Given the description of an element on the screen output the (x, y) to click on. 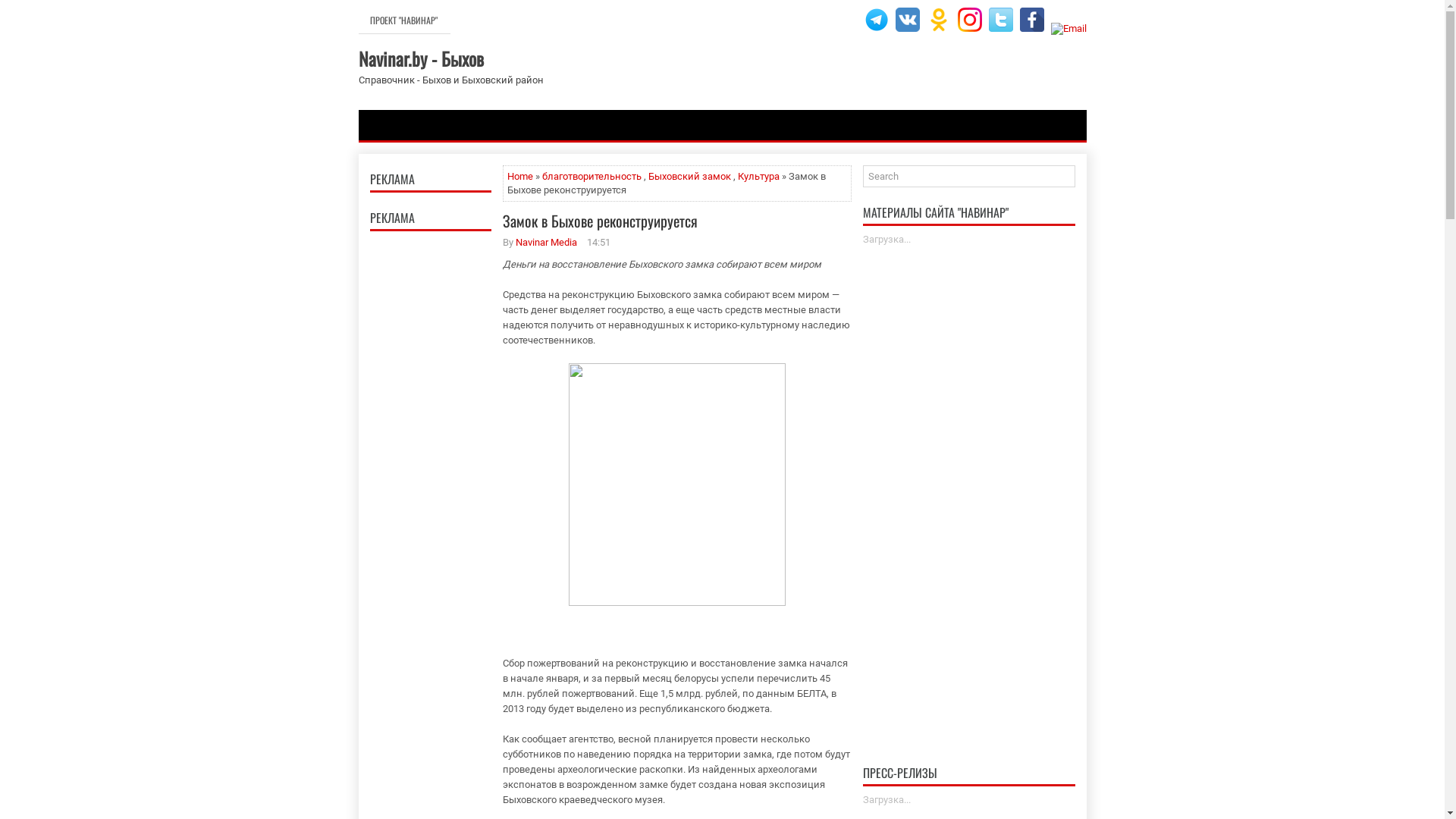
Facebook Element type: hover (1031, 19)
Telegram Element type: hover (876, 19)
Twitter Element type: hover (1000, 19)
Odnoklassniki Element type: hover (938, 19)
Type and hit enter Element type: hover (968, 176)
Home Element type: text (519, 176)
Instaram Element type: hover (969, 19)
Navinar Media Element type: text (546, 241)
Advertisement Element type: hover (968, 483)
VKontakte Element type: hover (906, 19)
Email Element type: hover (1068, 28)
Advertisement Element type: hover (430, 465)
